Given the description of an element on the screen output the (x, y) to click on. 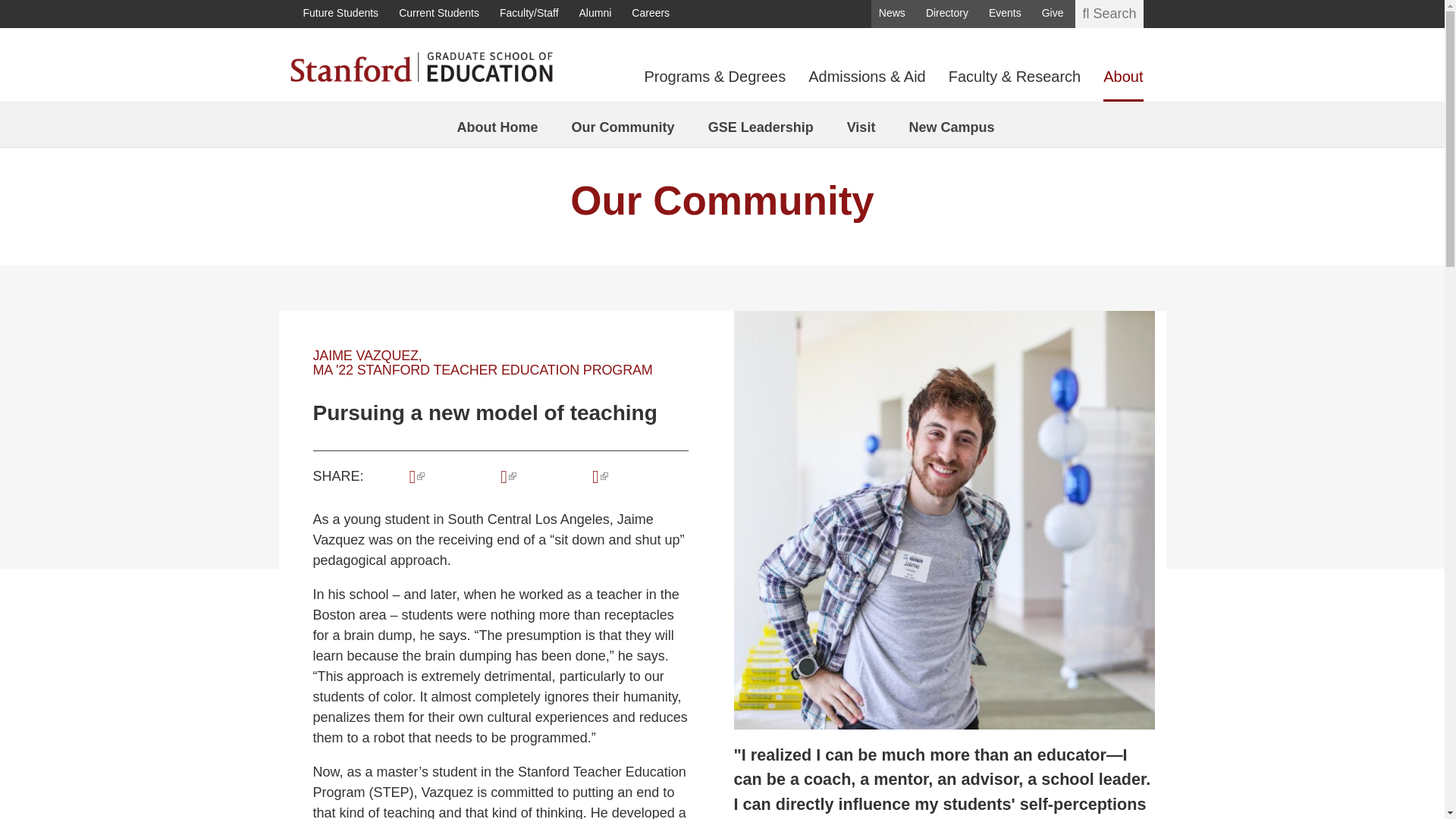
News (892, 14)
About Home (497, 127)
Give (1053, 14)
Home (420, 64)
Our Community (722, 200)
New Campus (951, 127)
Directory (947, 14)
Visit (860, 127)
Events (1005, 14)
Alumni (595, 14)
